Given the description of an element on the screen output the (x, y) to click on. 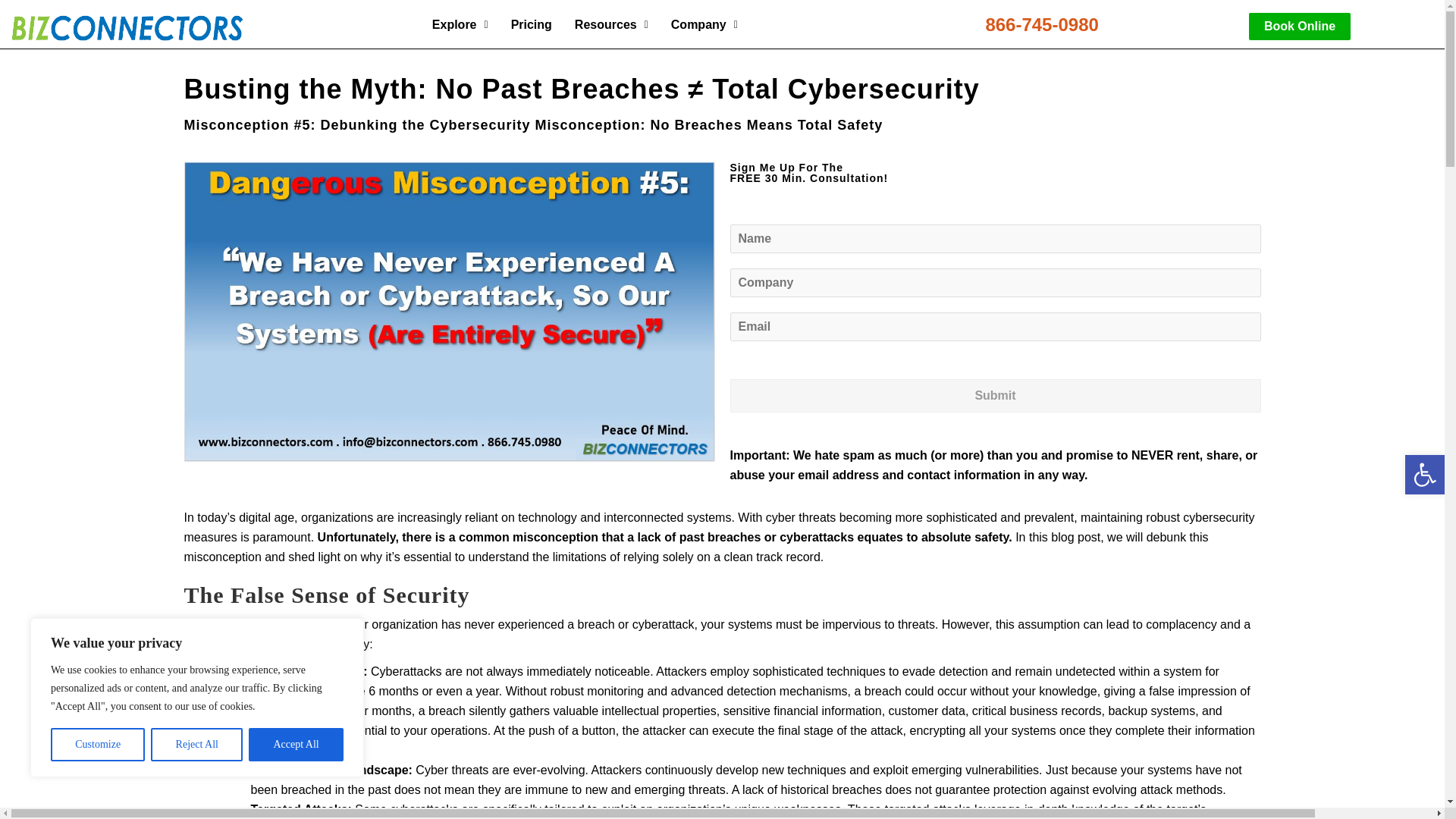
Reject All (197, 744)
Explore (459, 24)
Accessibility Tools (1424, 474)
Accessibility Tools (1424, 474)
Accept All (295, 744)
Customize (97, 744)
